Given the description of an element on the screen output the (x, y) to click on. 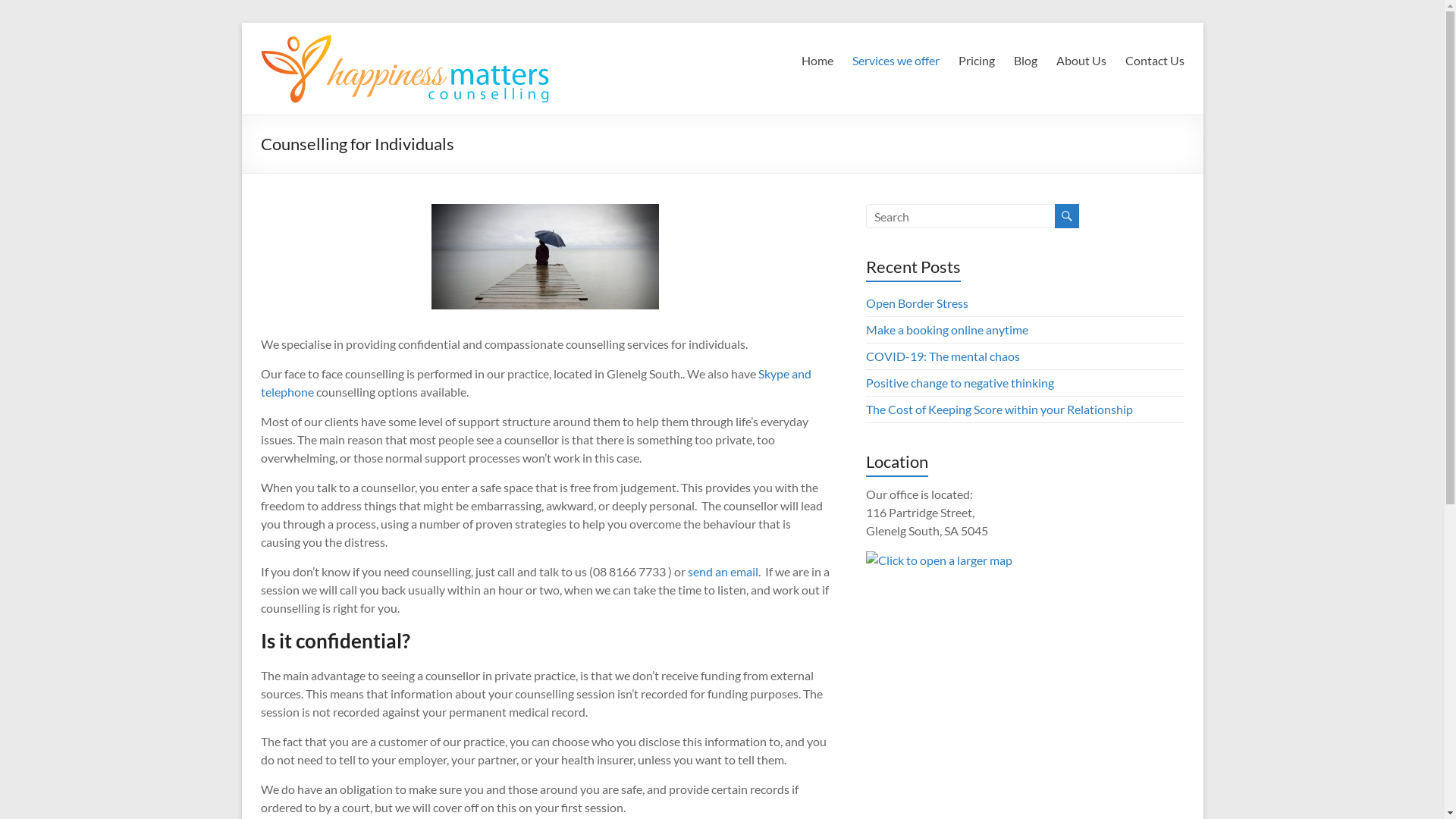
Positive change to negative thinking Element type: text (960, 382)
Services we offer Element type: text (895, 60)
Skype and telephone Element type: text (535, 382)
send an email Element type: text (722, 571)
Open Border Stress Element type: text (917, 302)
COVID-19: The mental chaos Element type: text (942, 355)
Home Element type: text (816, 60)
Click to open a larger map Element type: hover (939, 560)
Contact Us Element type: text (1154, 60)
Blog Element type: text (1024, 60)
Skip to content Element type: text (241, 21)
Pricing Element type: text (976, 60)
The Cost of Keeping Score within your Relationship Element type: text (999, 408)
Make a booking online anytime Element type: text (947, 329)
Happiness Matters Counselling Element type: text (329, 82)
About Us Element type: text (1080, 60)
